Given the description of an element on the screen output the (x, y) to click on. 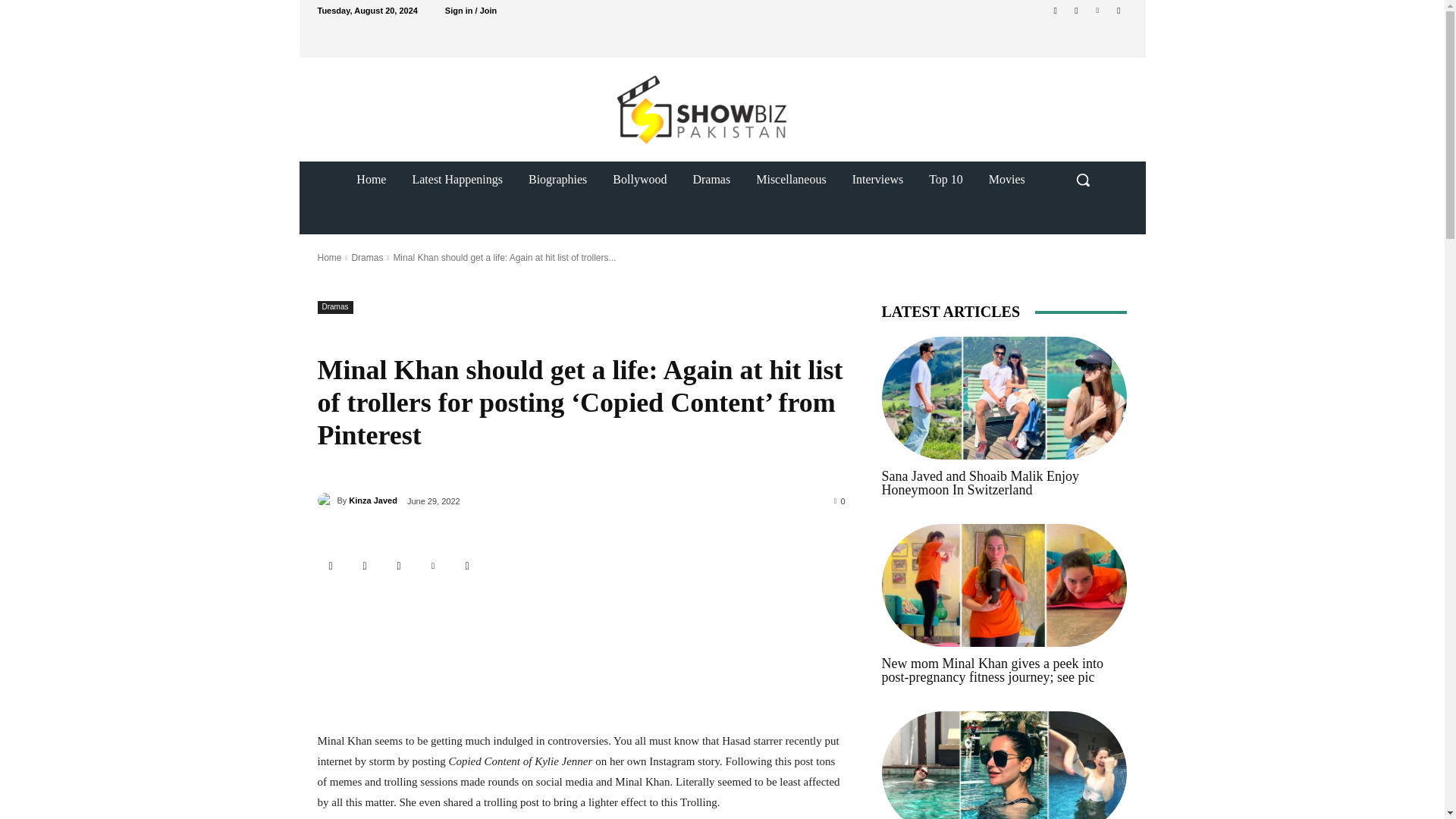
0 (839, 500)
Instagram (398, 565)
Home (328, 257)
Pinterest (1097, 9)
Kinza Javed (326, 500)
Dramas (710, 179)
Facebook (365, 565)
Miscellaneous (790, 179)
Top 10 (945, 179)
Youtube (1117, 9)
